Given the description of an element on the screen output the (x, y) to click on. 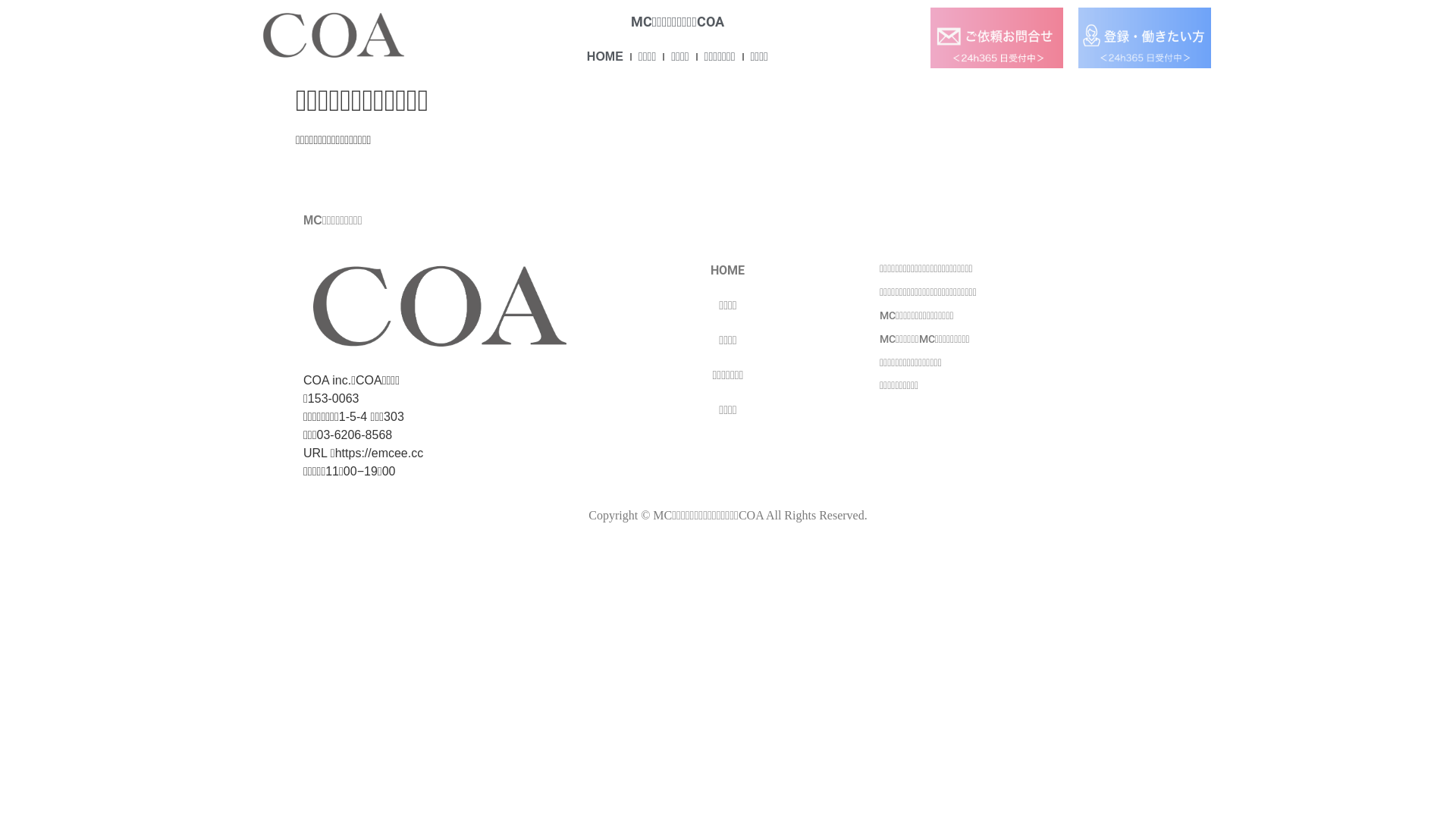
HOME Element type: text (727, 270)
HOME Element type: text (604, 56)
